Given the description of an element on the screen output the (x, y) to click on. 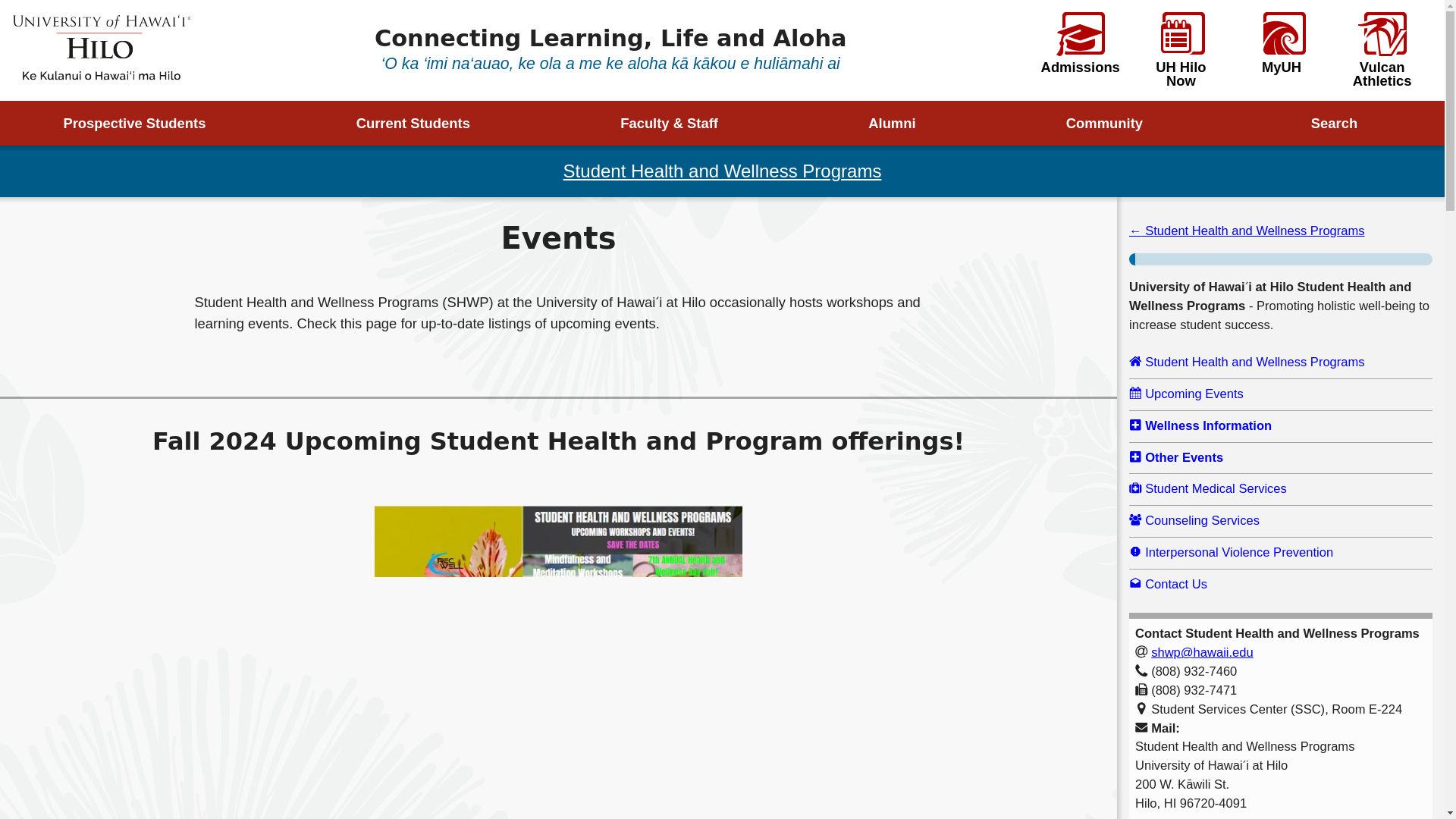
Interpersonal Violence Prevention (1280, 552)
Counseling Services (1280, 520)
Student Medical Services (1280, 488)
Current Students (424, 123)
Other Events (1280, 457)
Upcoming Events (1280, 394)
Admissions (1080, 43)
MyUH (1281, 43)
Student Health and Wellness Programs (722, 170)
Contact Us (1280, 584)
